Given the description of an element on the screen output the (x, y) to click on. 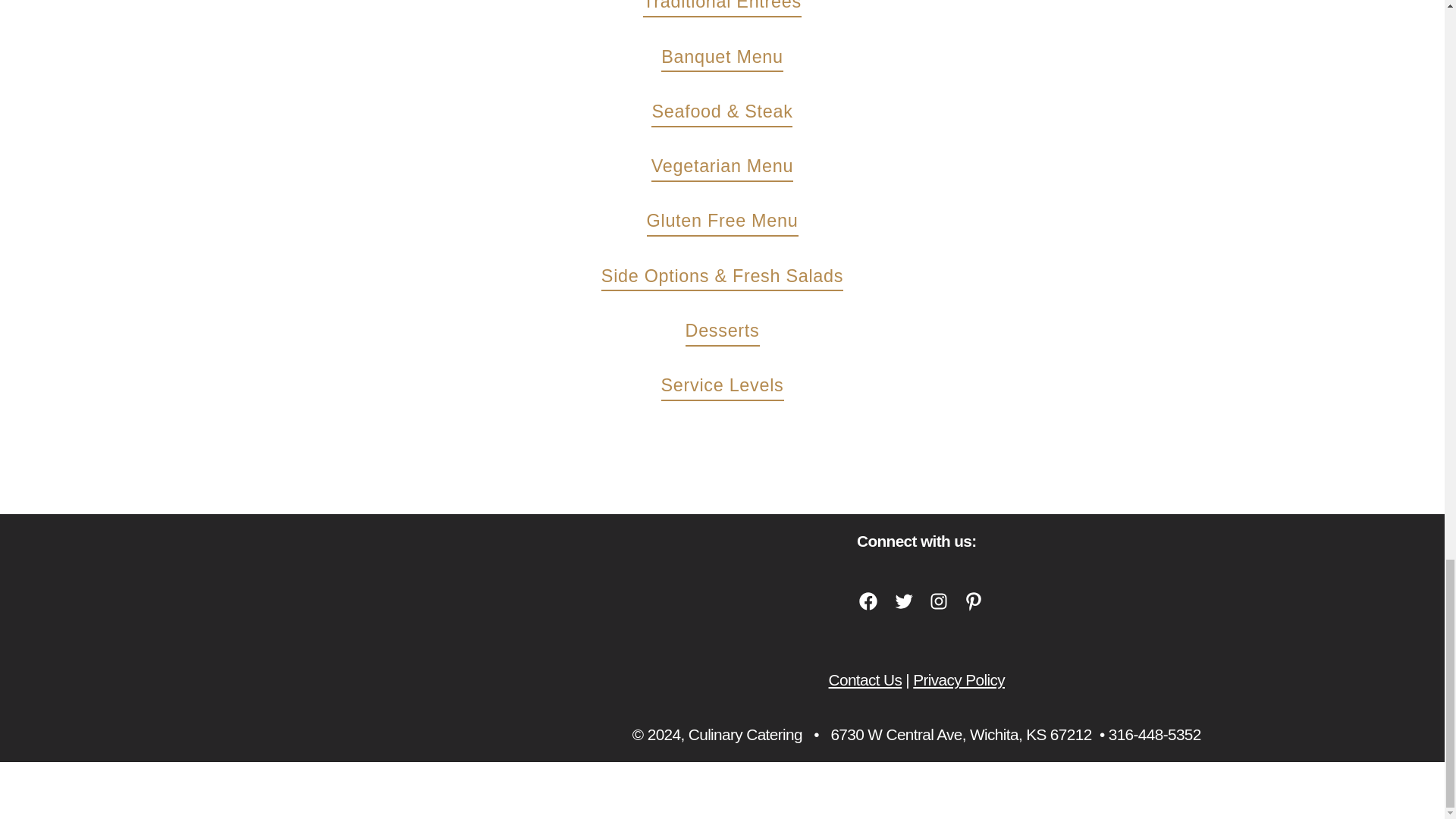
Gluten Free Menu (732, 222)
Service Levels (733, 387)
Desserts (732, 333)
Vegetarian Menu (731, 168)
Traditional Entrees (732, 8)
Banquet Menu (732, 58)
